Given the description of an element on the screen output the (x, y) to click on. 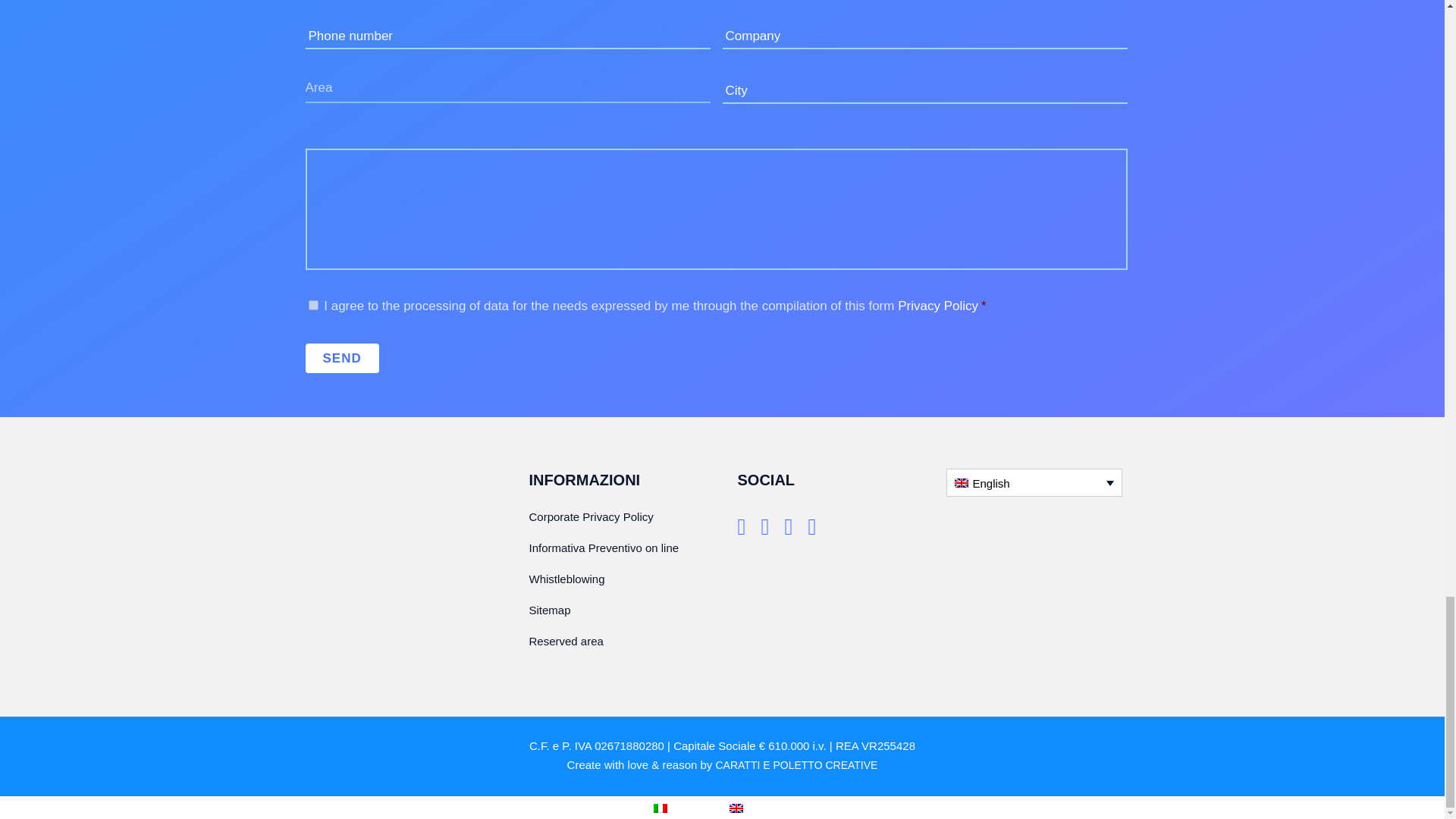
1 (312, 305)
English (1034, 482)
English (735, 808)
Sitemap (621, 610)
Send (341, 358)
Send (341, 358)
Corporate Privacy Policy (621, 516)
Informativa Preventivo on line (621, 547)
Whistleblowing (621, 579)
Italiano (659, 808)
